Given the description of an element on the screen output the (x, y) to click on. 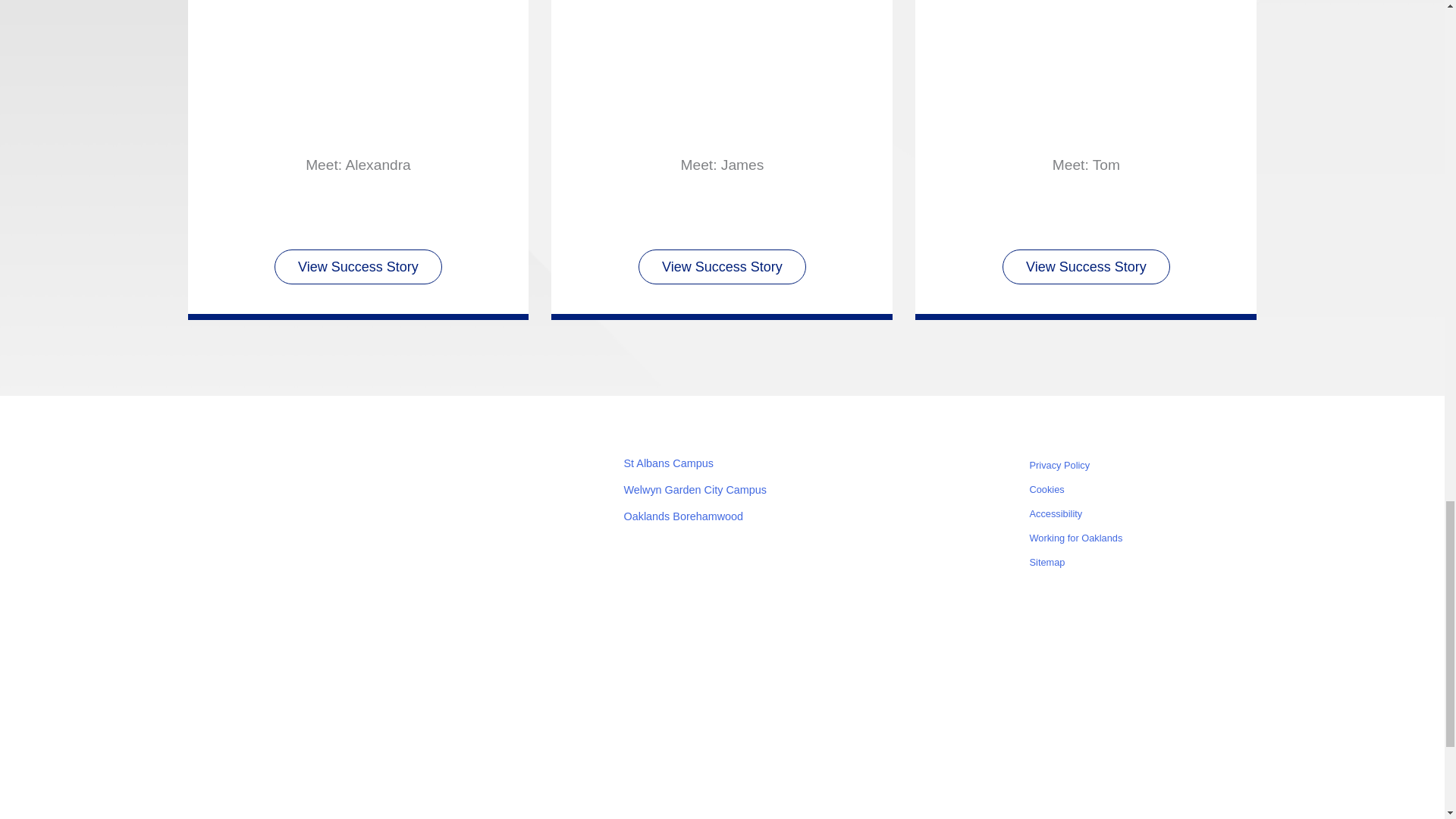
Meet: James (721, 103)
Meet: Tom (1085, 164)
Meet: Alexandra (358, 103)
Meet: Alexandra (357, 164)
Meet: Tom (1085, 103)
Meet: James (720, 164)
